Given the description of an element on the screen output the (x, y) to click on. 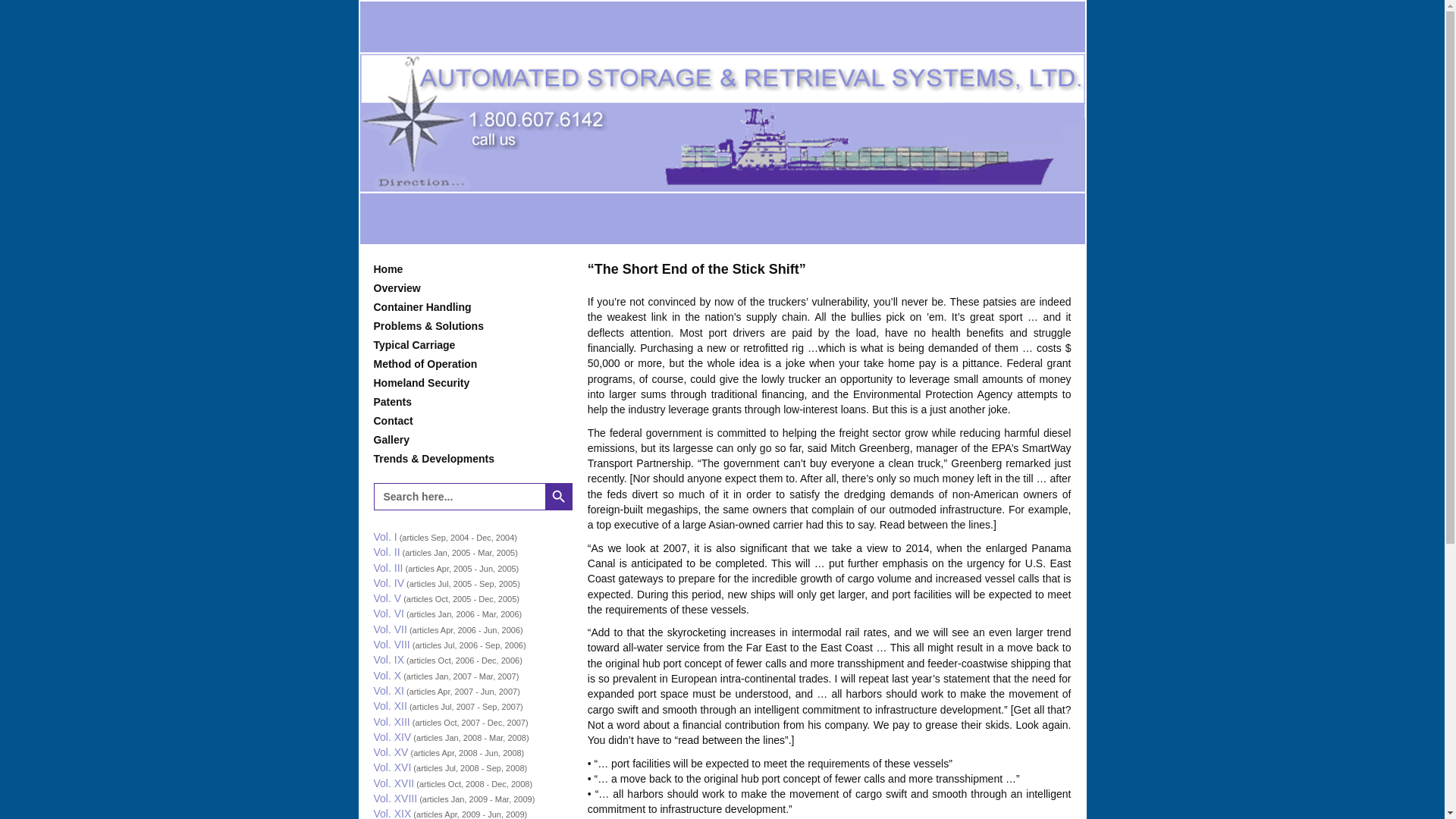
Vol. XIV (391, 736)
Vol. V (386, 598)
Vol. X (386, 675)
Patents (472, 402)
Vol. III (387, 567)
Vol. VIII (390, 644)
Vol. I (384, 536)
Vol. XVI (391, 767)
Method of Operation (472, 363)
Vol. IX (387, 659)
Vol. XIII (390, 721)
Vol. II (385, 551)
Search Button (558, 496)
Contact (472, 420)
Typical Carriage (472, 344)
